Given the description of an element on the screen output the (x, y) to click on. 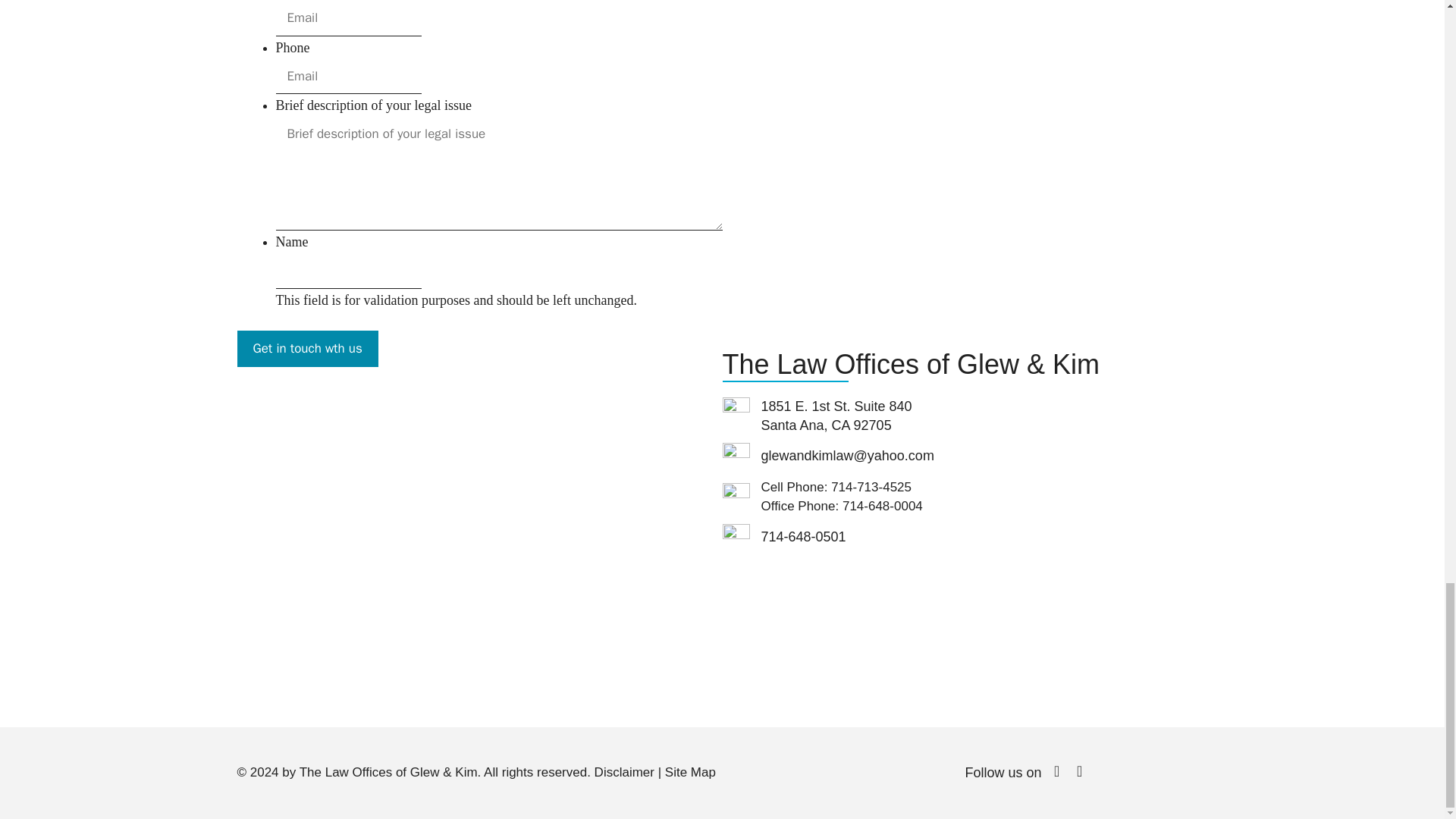
Get in touch wth us (306, 348)
714-648-0004 (883, 505)
Site Map (690, 771)
1851 E. 1st St. Suite 840 Santa Ana, CA 92705 (478, 549)
Get in touch wth us (306, 348)
714-713-4525 (871, 486)
Disclaimer (623, 771)
